Given the description of an element on the screen output the (x, y) to click on. 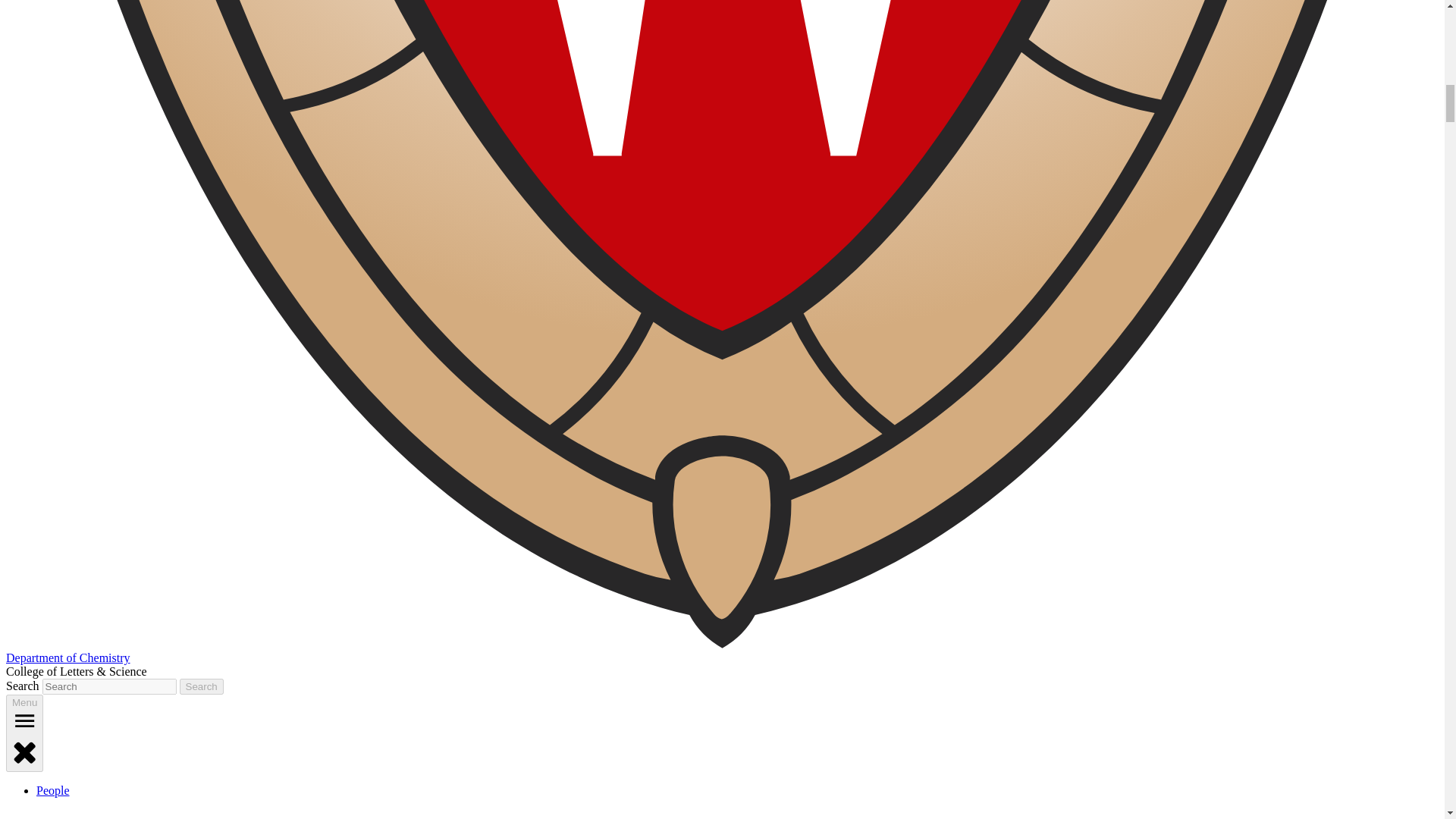
Search (201, 686)
Department of Chemistry (68, 657)
close (24, 751)
open menu (24, 720)
Search (201, 686)
Menu open menu close (24, 733)
Search (201, 686)
